Given the description of an element on the screen output the (x, y) to click on. 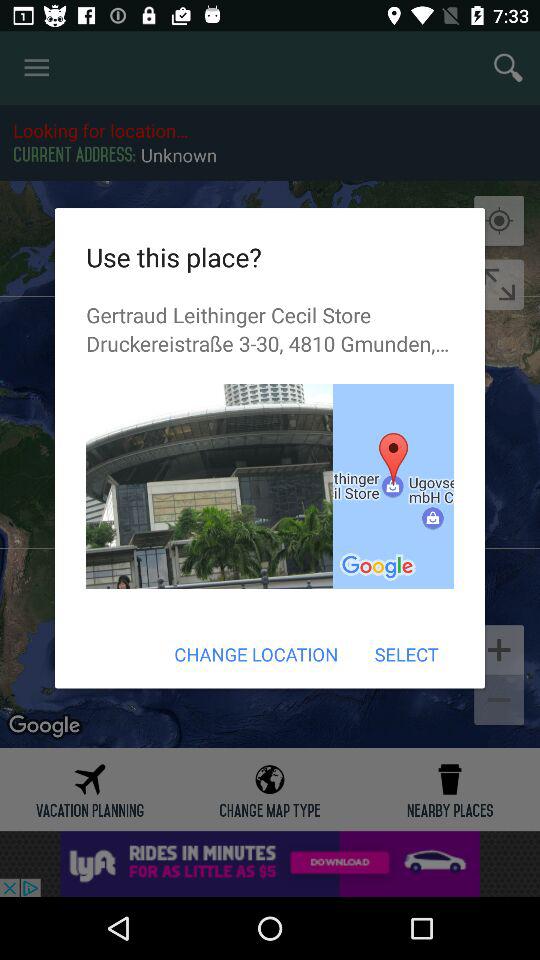
swipe until change location item (256, 654)
